Given the description of an element on the screen output the (x, y) to click on. 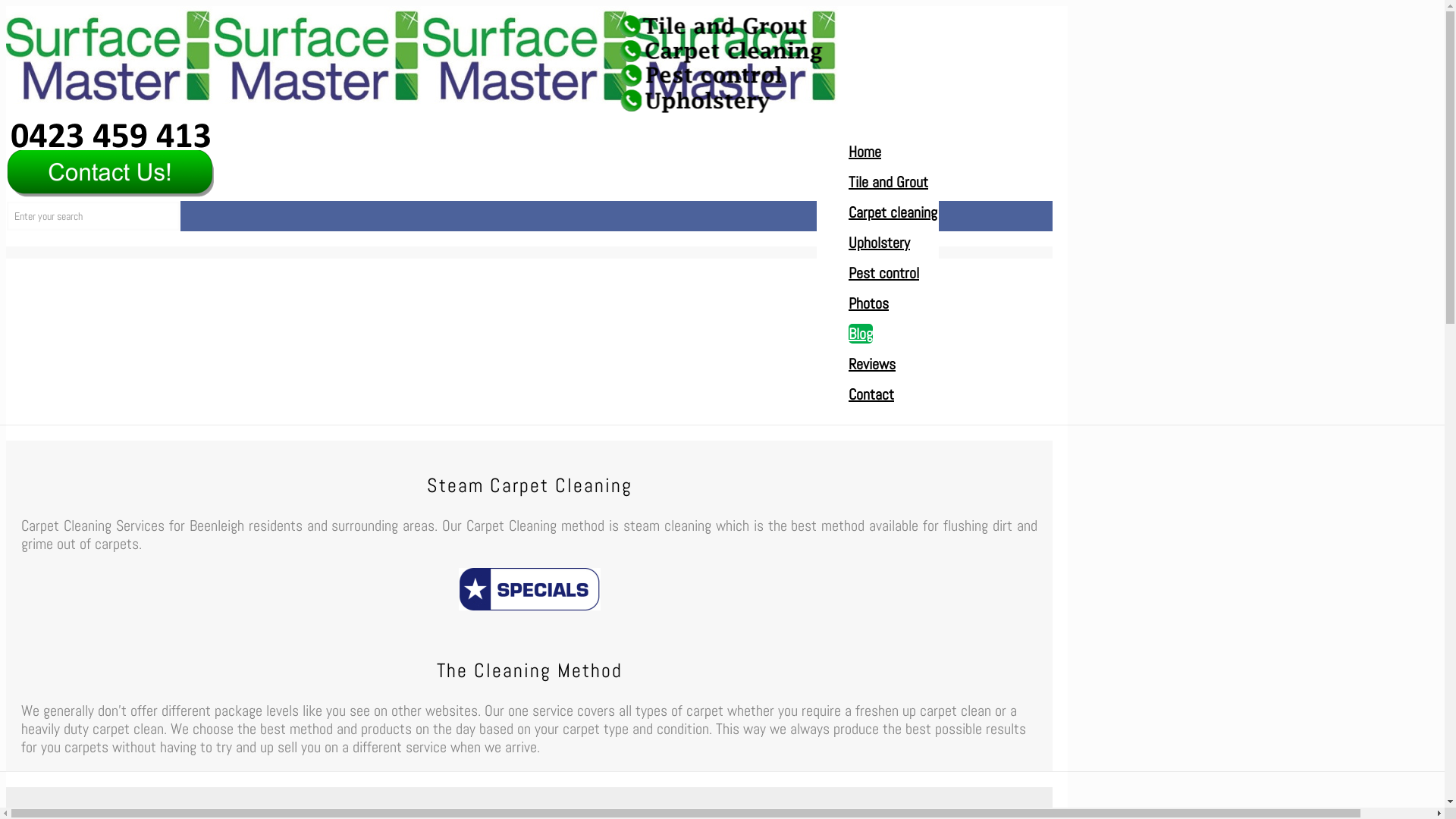
Surface Master Element type: hover (423, 98)
Home Element type: text (864, 151)
Reviews Element type: text (871, 363)
Photos Element type: text (868, 303)
Contact Element type: text (871, 394)
Carpet cleaning Element type: text (892, 212)
Upholstery Element type: text (879, 242)
Blog Element type: text (860, 333)
Tile and Grout Element type: text (888, 181)
Pest control Element type: text (883, 272)
